Given the description of an element on the screen output the (x, y) to click on. 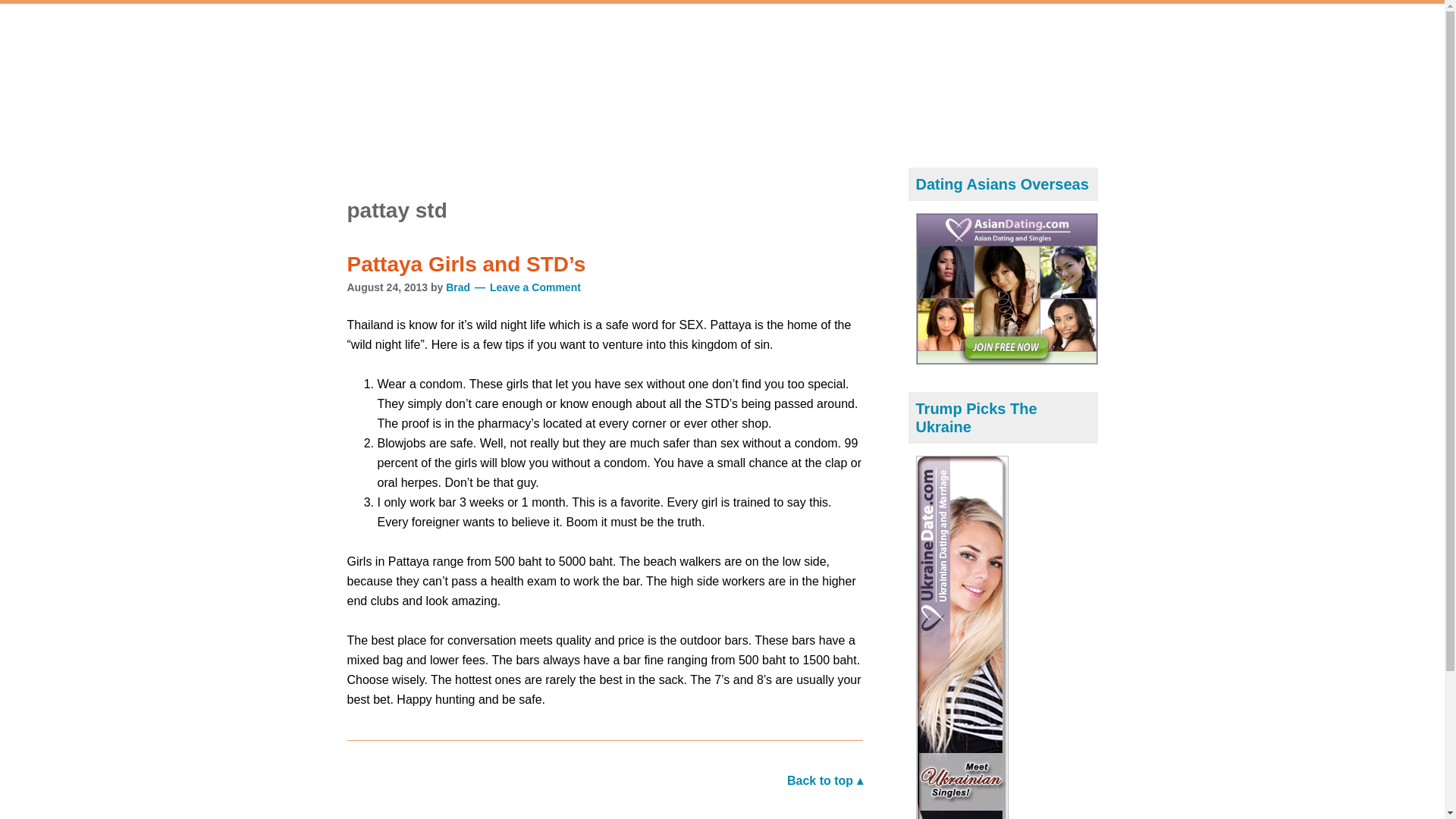
How To Meet Women Overseas (483, 73)
Leave a Comment (526, 287)
Brad (457, 287)
